Given the description of an element on the screen output the (x, y) to click on. 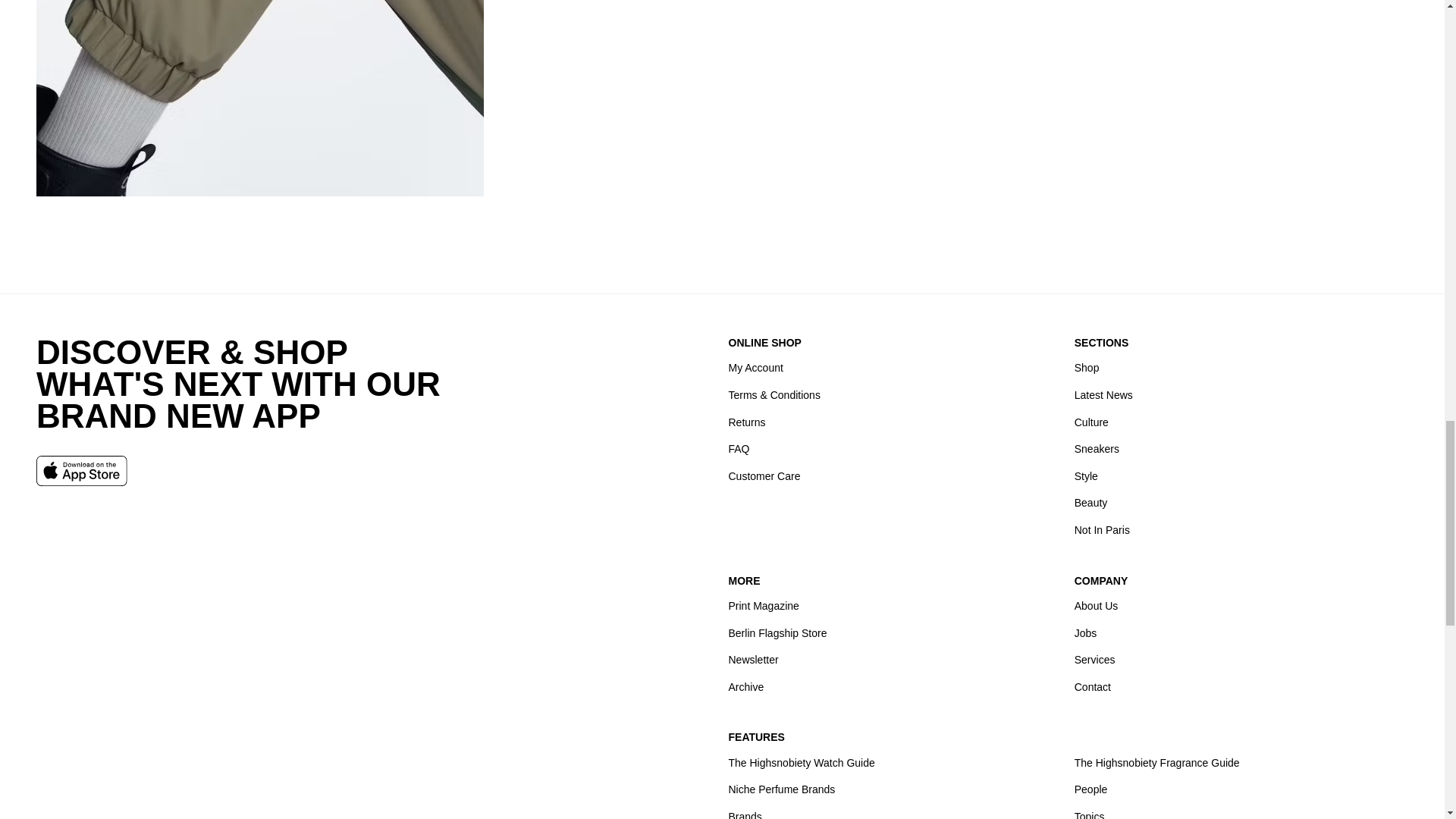
Culture (1091, 422)
Beauty (1091, 503)
My Account (755, 368)
Shop (1086, 368)
Returns (746, 422)
Style (1085, 476)
Sneakers (1096, 449)
Latest News (1103, 395)
FAQ (738, 449)
Customer Care (763, 476)
Not In Paris (1101, 530)
